Given the description of an element on the screen output the (x, y) to click on. 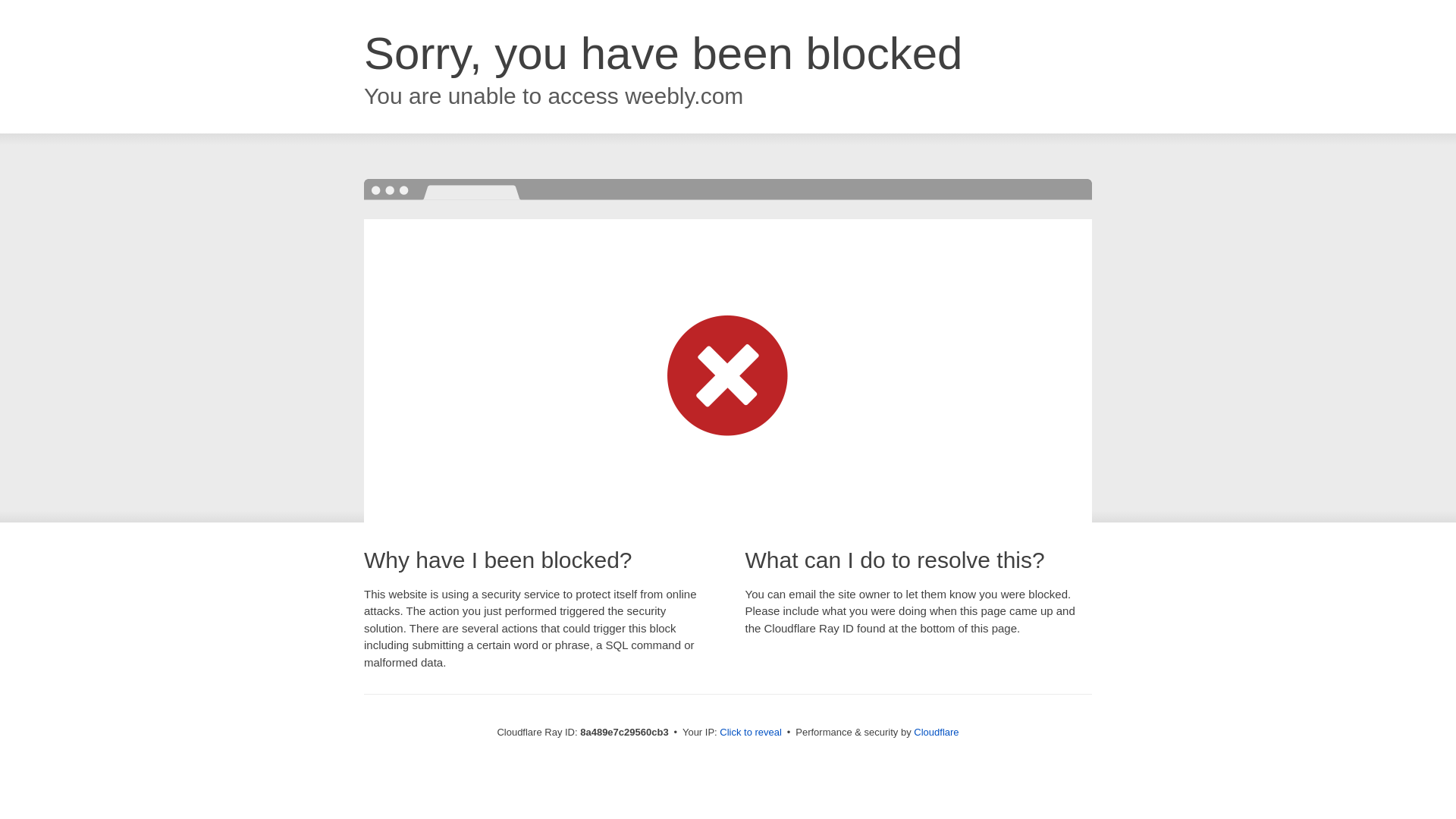
Click to reveal (750, 732)
Cloudflare (936, 731)
